Given the description of an element on the screen output the (x, y) to click on. 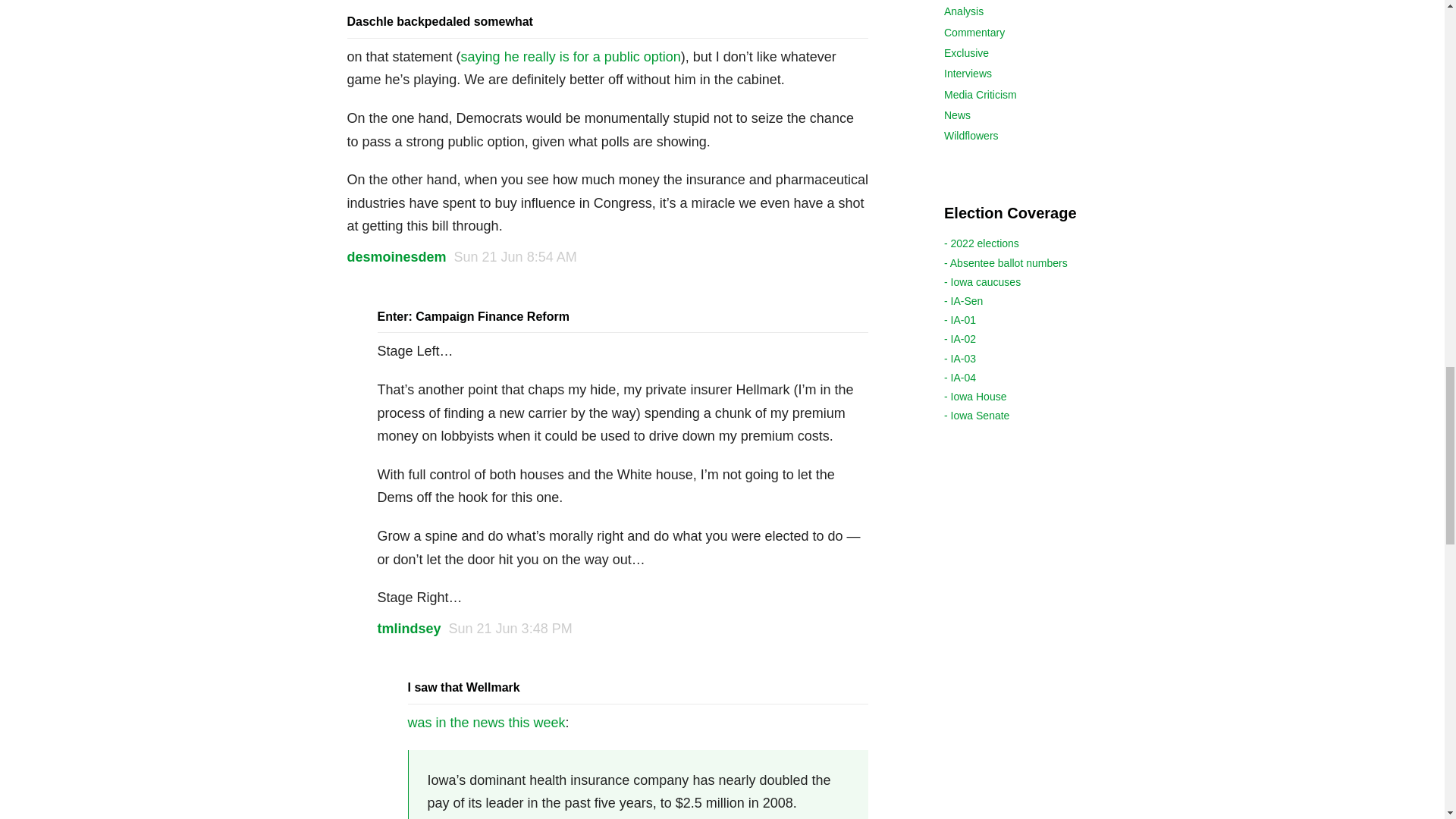
Sun 21 Jun 8:54 AM (515, 256)
Comment Permalink (515, 256)
was in the news this week (486, 722)
saying he really is for a public option (571, 56)
Comment Permalink (510, 628)
desmoinesdem (396, 256)
Sun 21 Jun 3:48 PM (510, 628)
tmlindsey (409, 628)
